Given the description of an element on the screen output the (x, y) to click on. 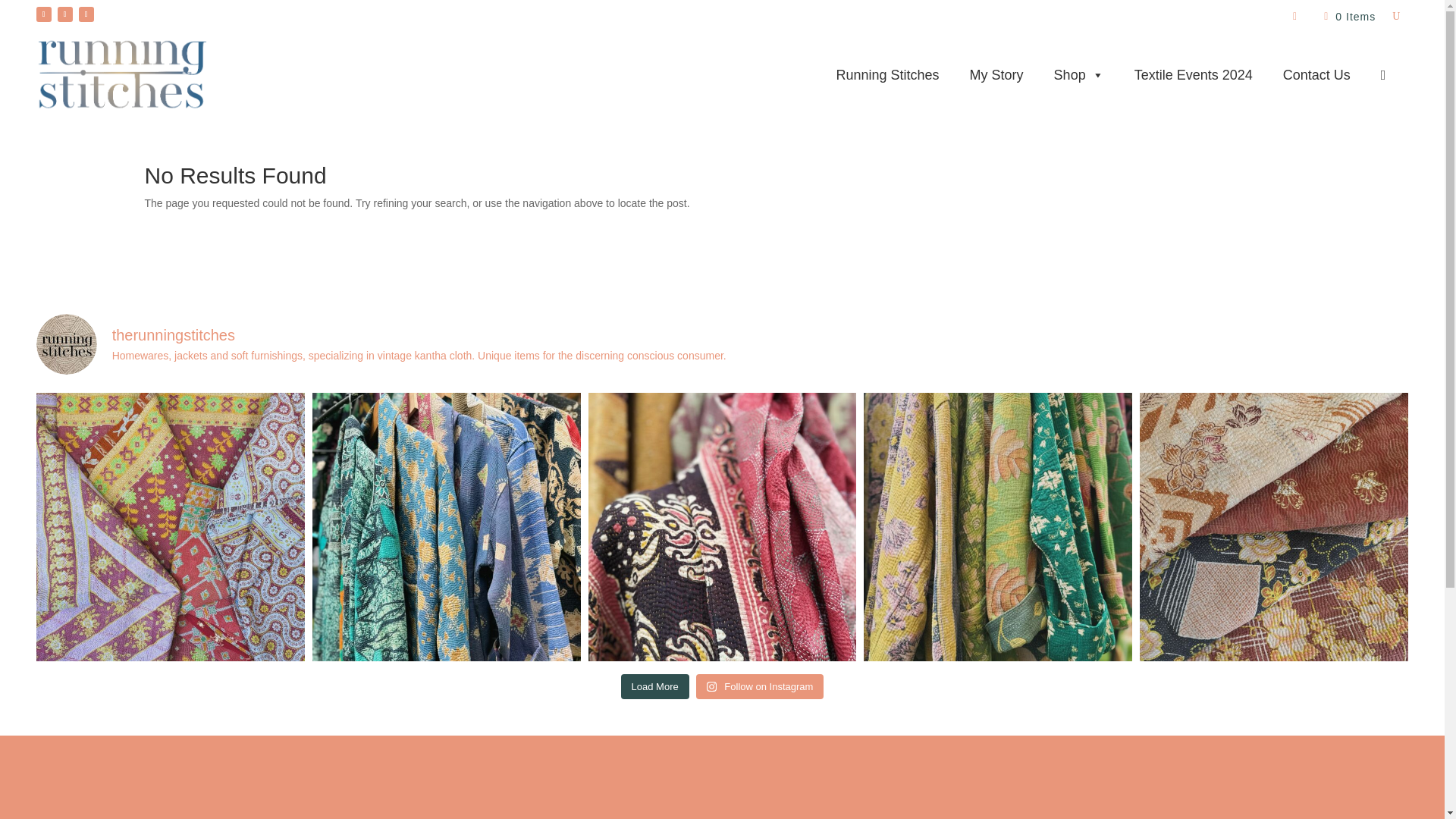
Contact Us (1316, 74)
Follow on Instagram (86, 14)
0 Items (1349, 16)
Textile Events 2024 (1193, 74)
Follow on Facebook (65, 14)
Running Stitches (887, 74)
running-stitches-revised-logo-05 (122, 74)
Follow on Pinterest (43, 14)
